Given the description of an element on the screen output the (x, y) to click on. 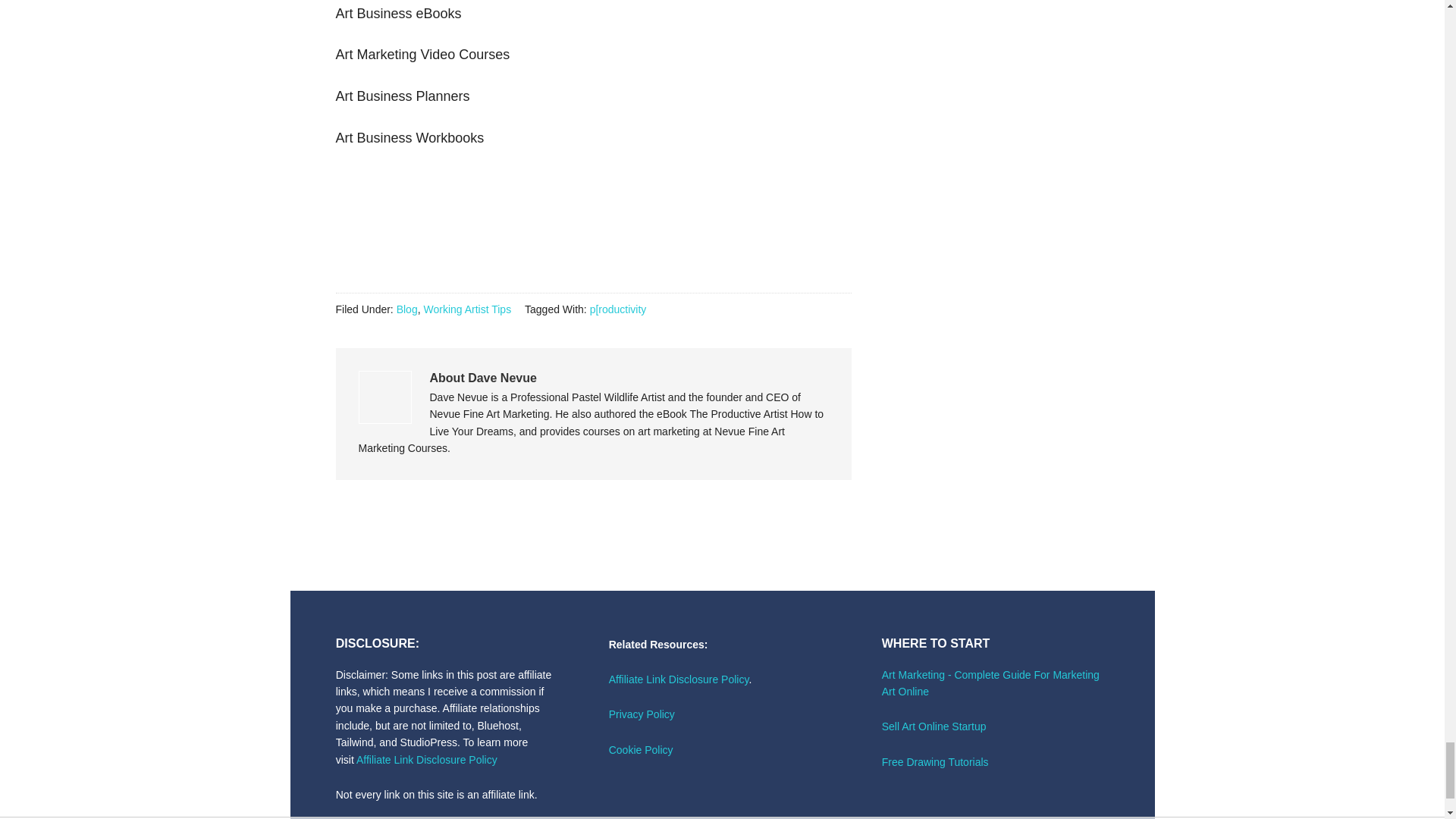
Blog (406, 309)
